Given the description of an element on the screen output the (x, y) to click on. 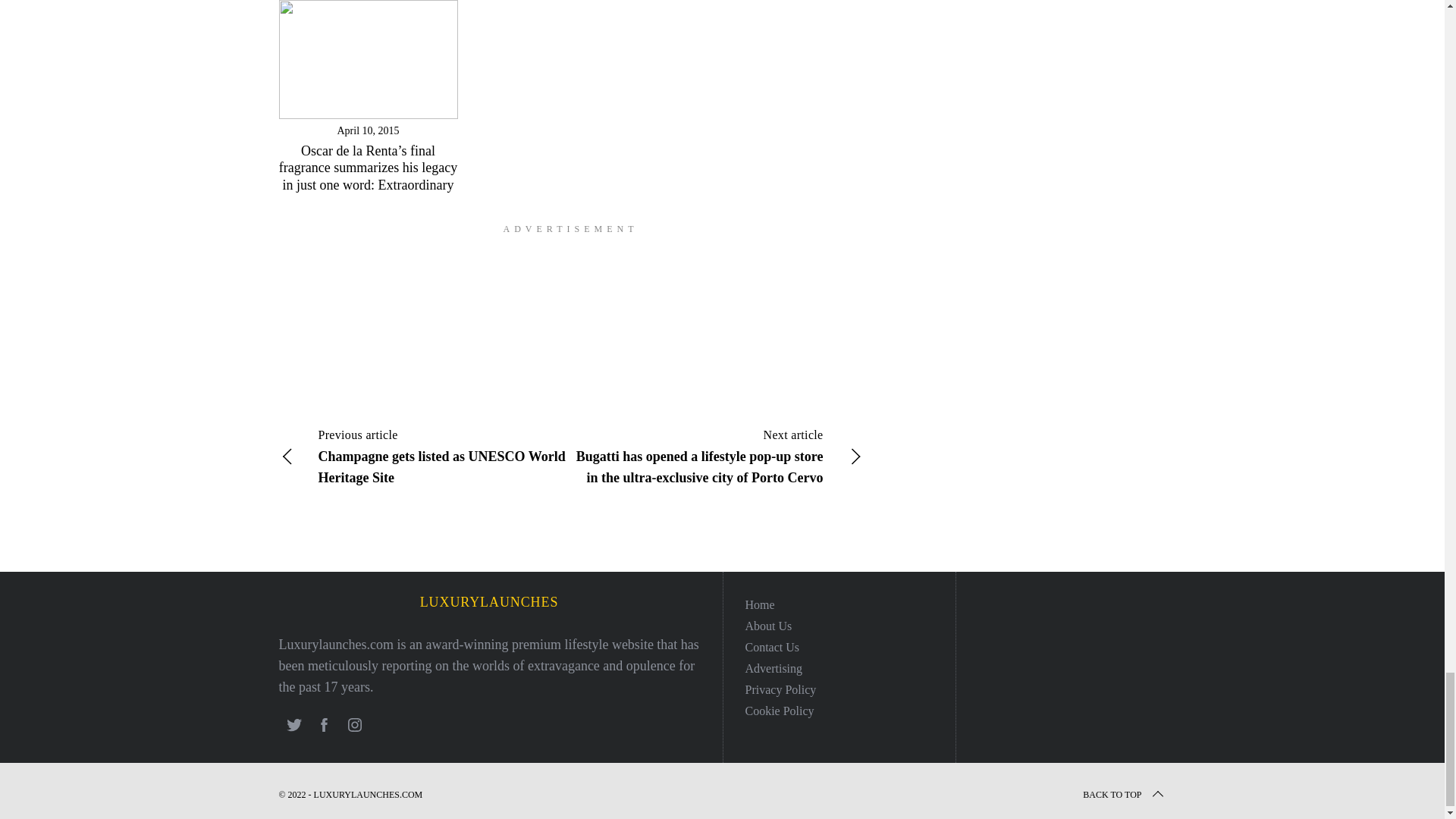
Advertising (773, 667)
Contact us (771, 646)
Privacy Policy (779, 689)
Cookie Policy (778, 710)
About Us (768, 625)
Home (759, 604)
